Given the description of an element on the screen output the (x, y) to click on. 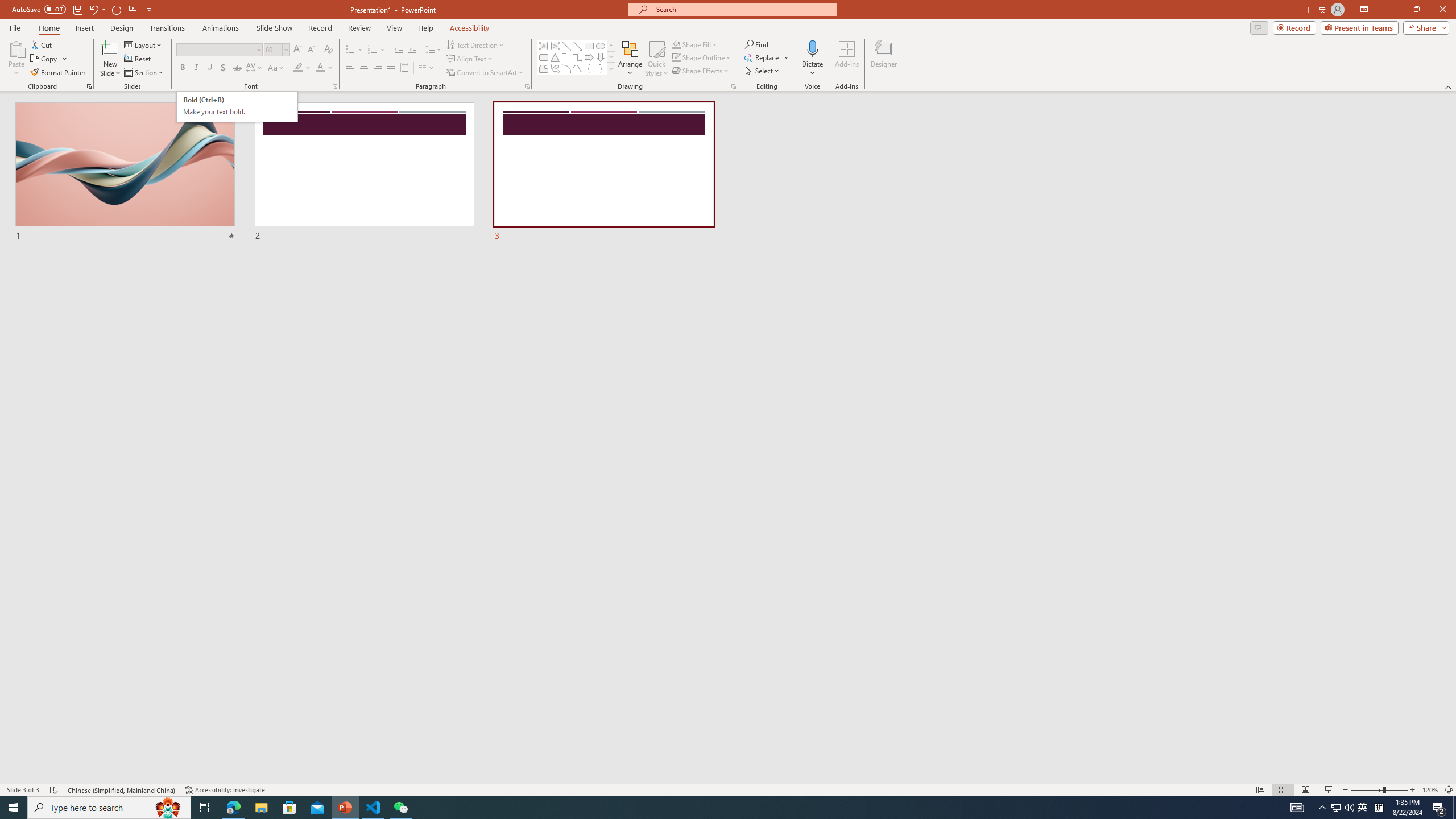
Review (359, 28)
Ribbon Display Options (1364, 9)
Zoom In (1412, 790)
